Given the description of an element on the screen output the (x, y) to click on. 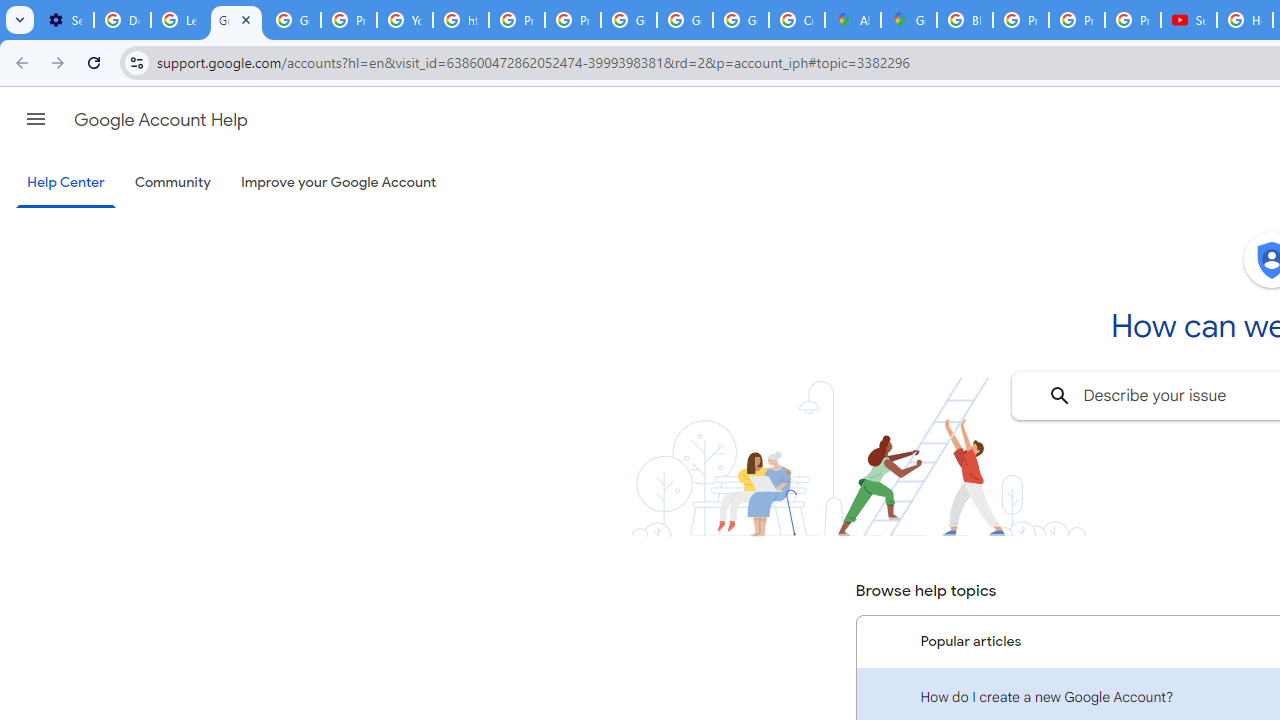
Improve your Google Account (339, 183)
Delete photos & videos - Computer - Google Photos Help (122, 20)
Community (171, 183)
Help Center (65, 183)
Privacy Help Center - Policies Help (1021, 20)
Main menu (35, 119)
YouTube (404, 20)
Privacy Help Center - Policies Help (517, 20)
https://scholar.google.com/ (460, 20)
